Given the description of an element on the screen output the (x, y) to click on. 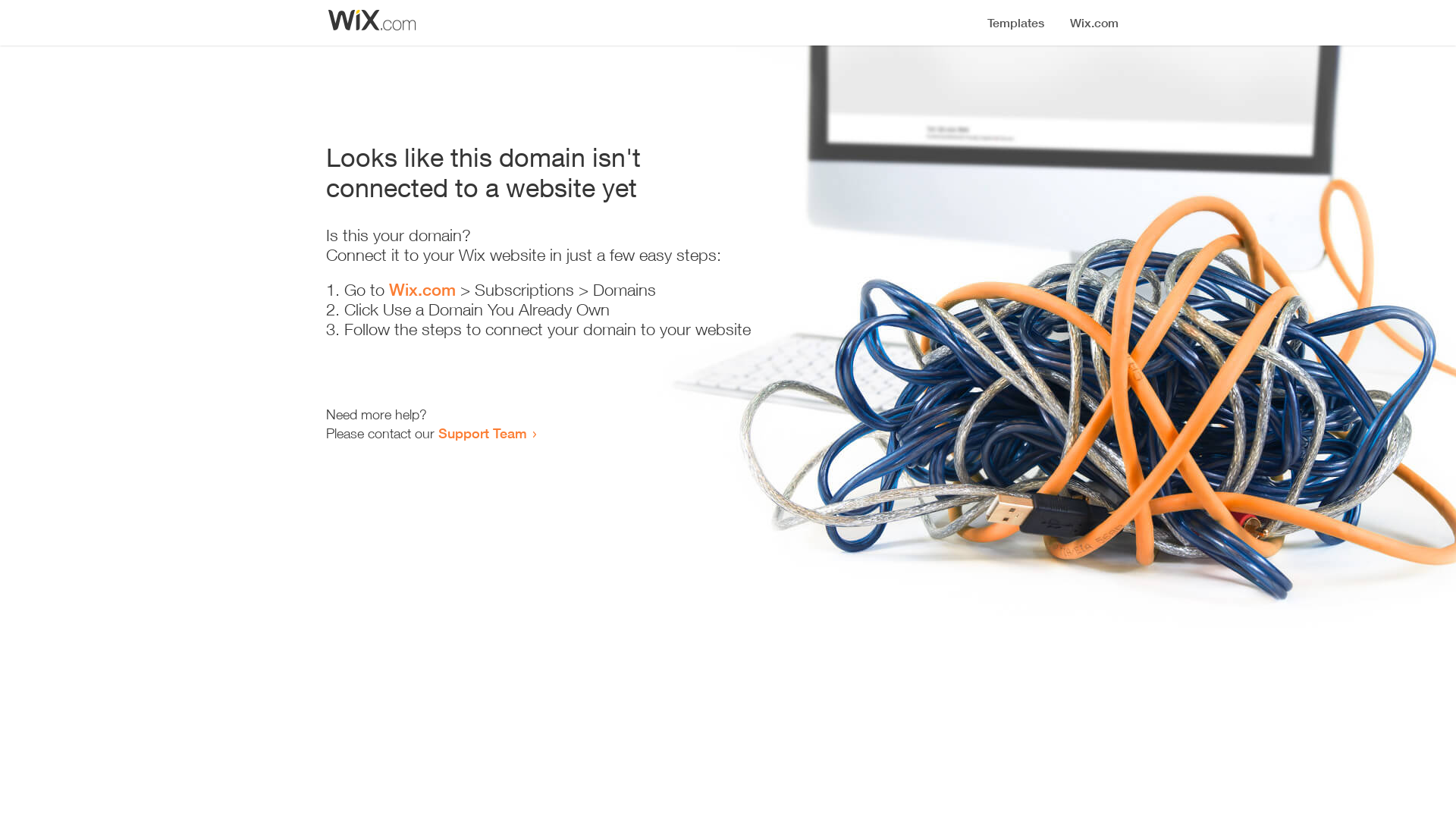
Support Team Element type: text (482, 432)
Wix.com Element type: text (422, 289)
